Given the description of an element on the screen output the (x, y) to click on. 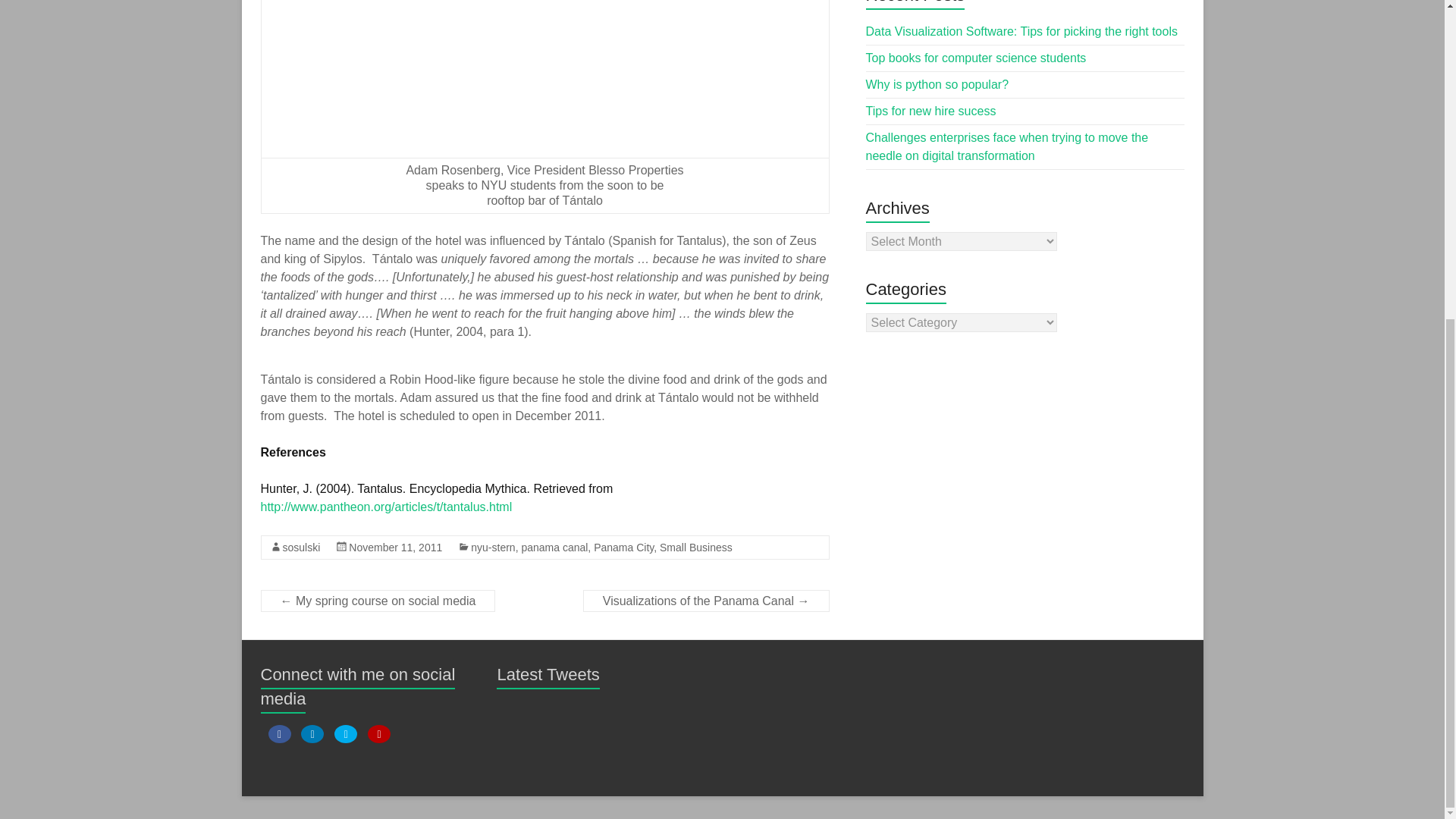
2:00 pm (395, 547)
Small Business (695, 547)
November 11, 2011 (395, 547)
sosulski (301, 547)
Panama City (623, 547)
nyu-stern (492, 547)
panama canal (554, 547)
Top books for computer science students (976, 57)
